Given the description of an element on the screen output the (x, y) to click on. 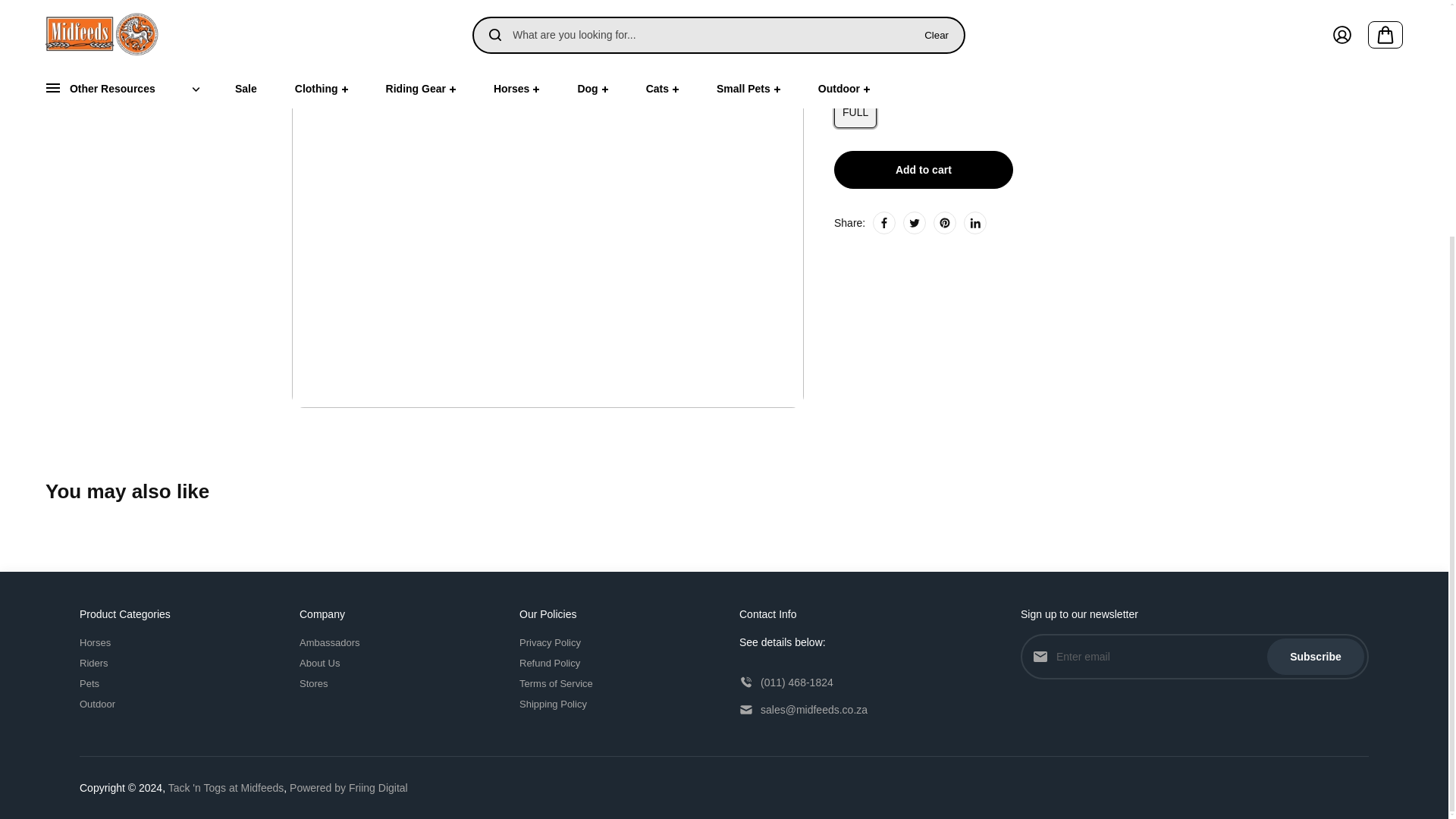
FULL (855, 111)
1 (889, 40)
